Given the description of an element on the screen output the (x, y) to click on. 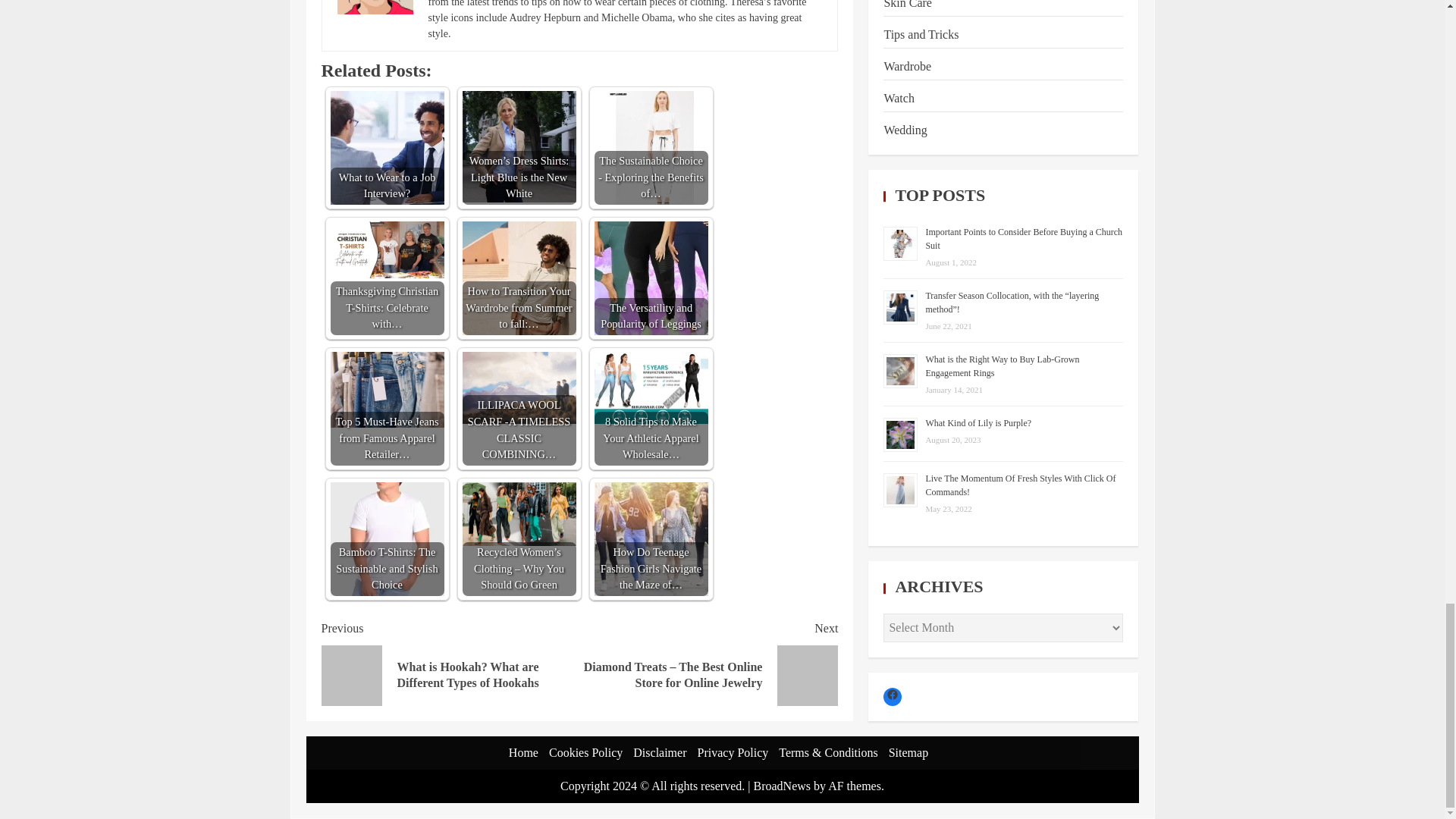
What to Wear to a Job Interview? (387, 147)
What to Wear to a Job Interview? (387, 147)
The Versatility and Popularity of Leggings (650, 277)
Bamboo T-Shirts: The Sustainable and Stylish Choice (387, 539)
Theresa Smith (374, 7)
